Given the description of an element on the screen output the (x, y) to click on. 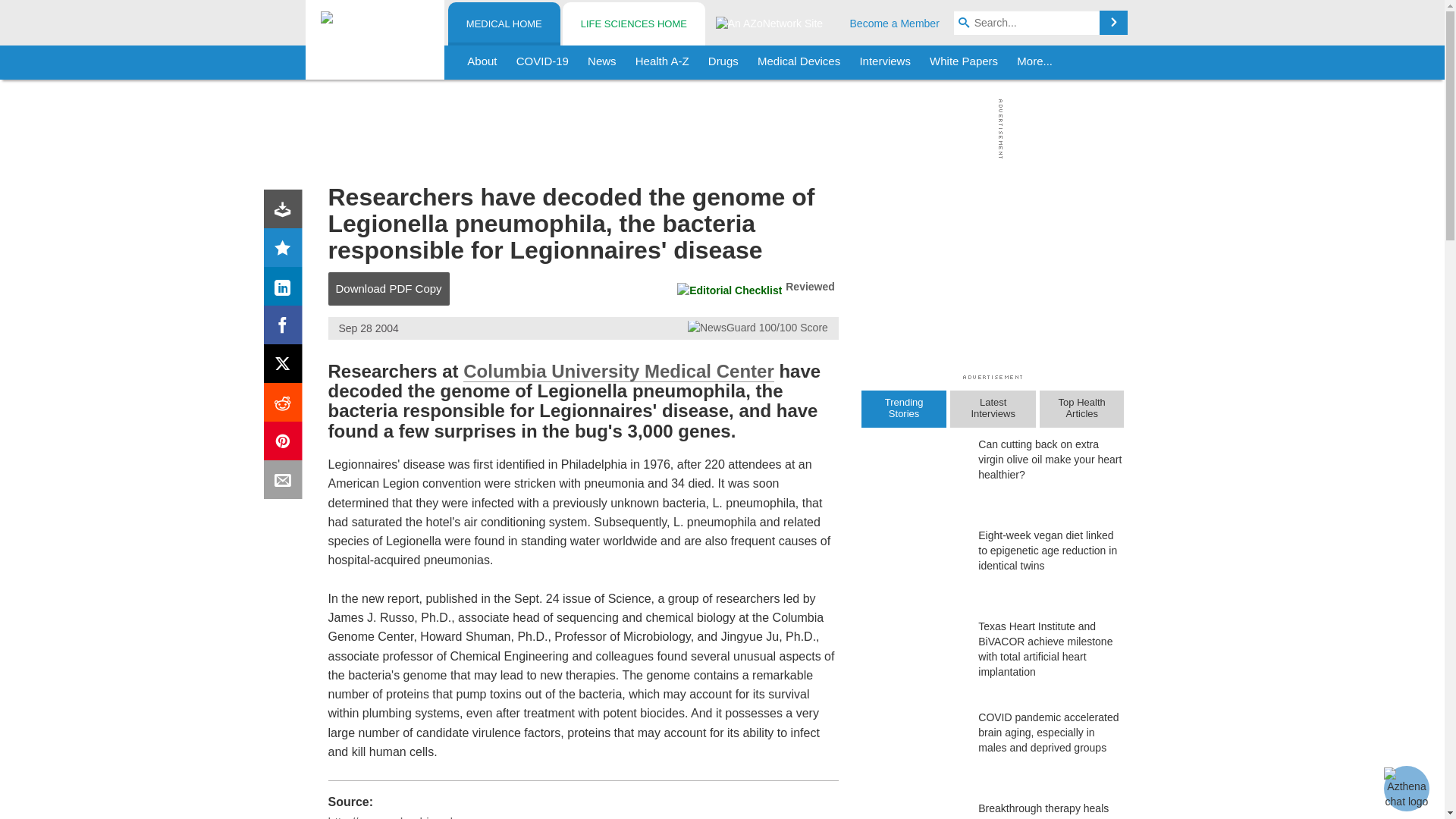
X (285, 366)
Rating (285, 250)
LinkedIn (285, 289)
Drugs (722, 62)
White Papers (963, 62)
Become a Member (894, 22)
About (482, 62)
MEDICAL HOME (504, 23)
More... (1035, 62)
Medical Devices (798, 62)
Health A-Z (662, 62)
Download PDF copy (285, 212)
LIFE SCIENCES HOME (633, 23)
COVID-19 (542, 62)
